Given the description of an element on the screen output the (x, y) to click on. 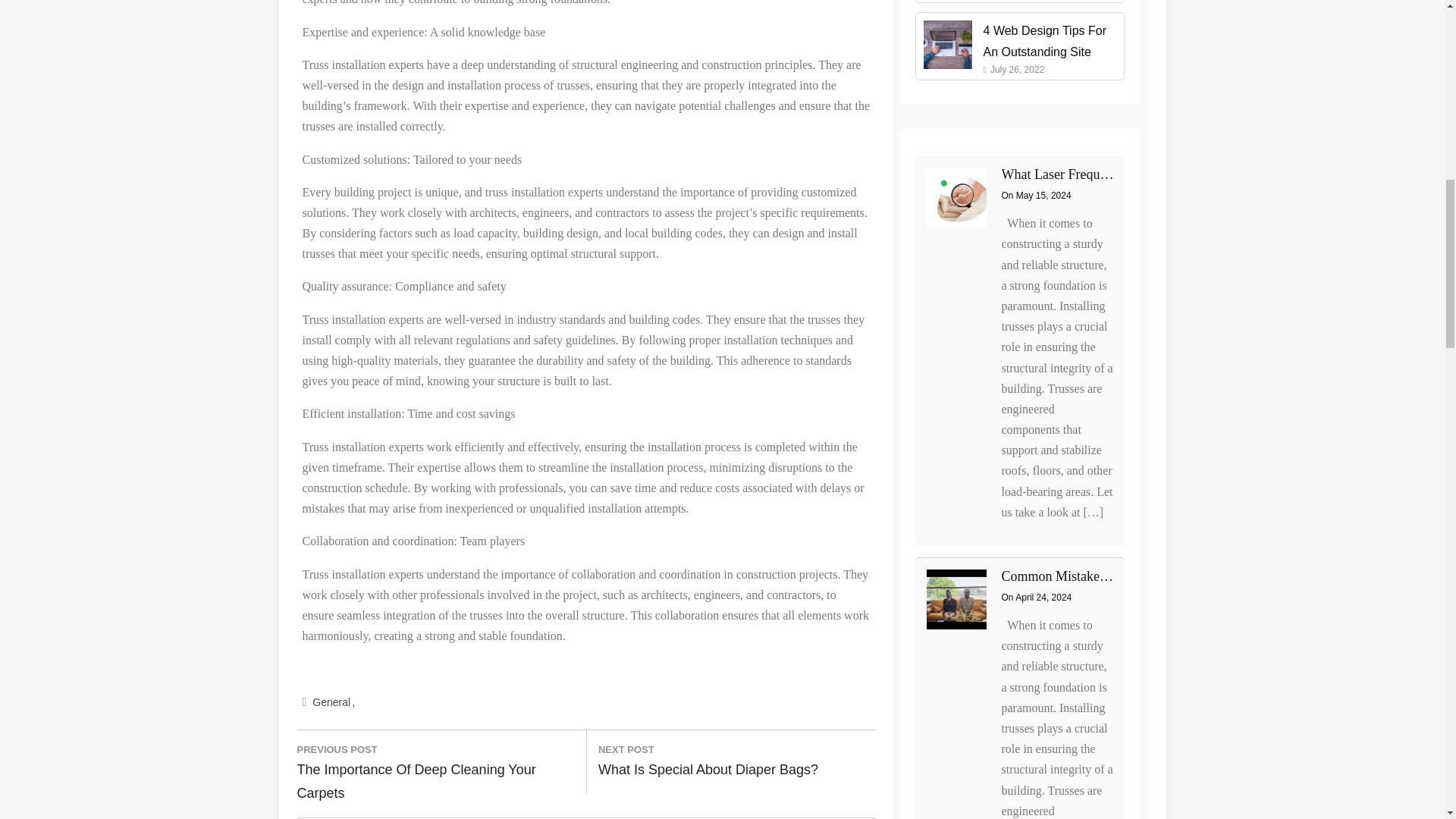
General (333, 702)
